Given the description of an element on the screen output the (x, y) to click on. 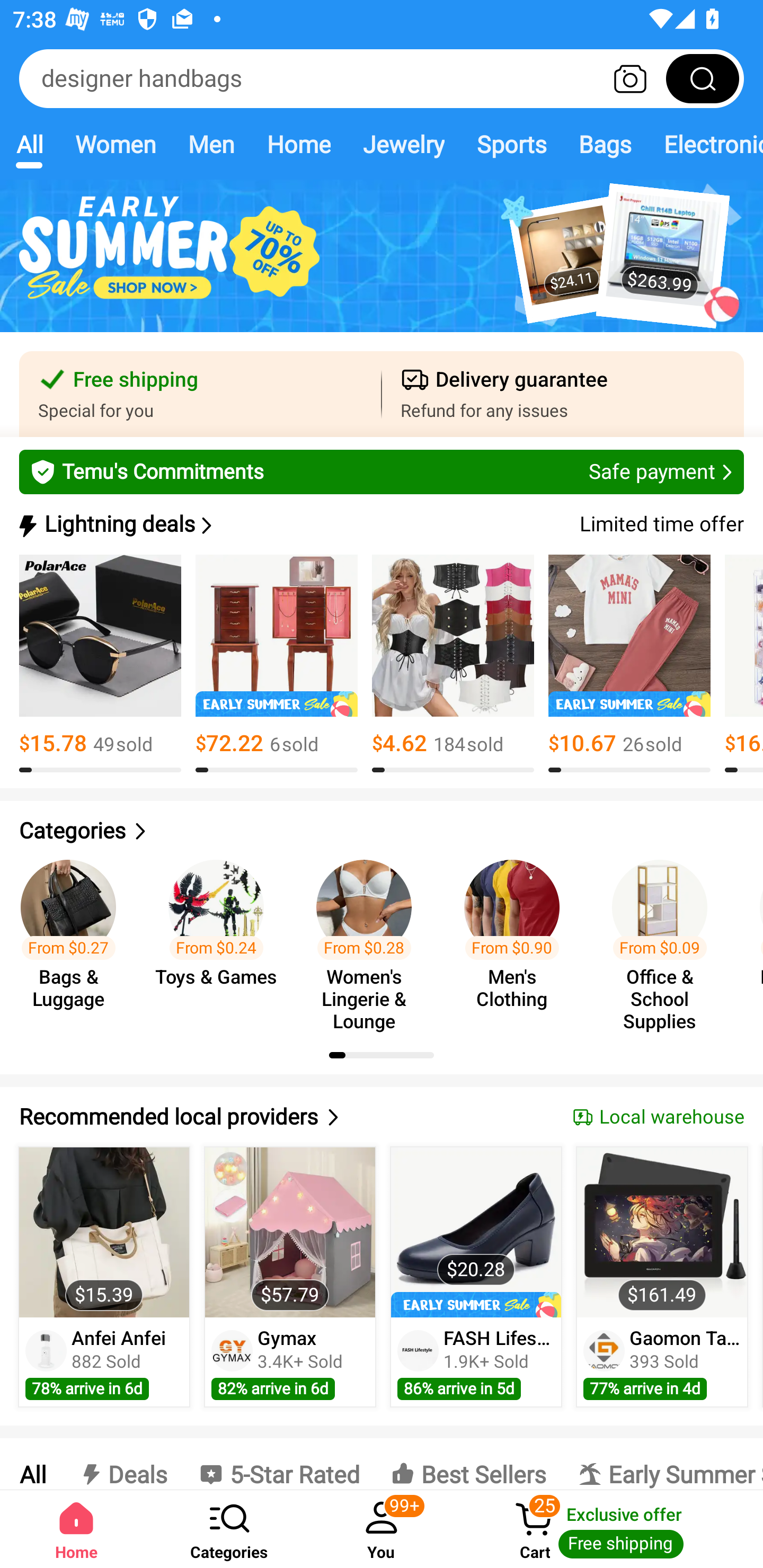
designer handbags (381, 78)
All (29, 144)
Women (115, 144)
Men (211, 144)
Home (298, 144)
Jewelry (403, 144)
Sports (511, 144)
Bags (605, 144)
Electronics (705, 144)
$24.11 $263.99 (381, 265)
Free shipping Special for you (200, 394)
Delivery guarantee Refund for any issues (562, 394)
Temu's Commitments (381, 471)
Lightning deals Lightning deals Limited time offer (379, 524)
$15.78 49￼sold 8.0 (100, 664)
$72.22 6￼sold 8.0 (276, 664)
$4.62 184￼sold 8.0 (453, 664)
$10.67 26￼sold 8.0 (629, 664)
Categories (381, 830)
From $0.27 Bags & Luggage (74, 936)
From $0.24 Toys & Games (222, 936)
From $0.28 Women's Lingerie & Lounge (369, 936)
From $0.90 Men's Clothing (517, 936)
From $0.09 Office & School Supplies (665, 936)
$15.39 Anfei Anfei 882 Sold 78% arrive in 6d (103, 1276)
$57.79 Gymax 3.4K+ Sold 82% arrive in 6d (289, 1276)
$20.28 FASH Lifestyle 1.9K+ Sold 86% arrive in 5d (475, 1276)
$161.49 Gaomon Tablet 393 Sold 77% arrive in 4d (661, 1276)
$15.39 (104, 1232)
$57.79 (290, 1232)
$20.28 (475, 1232)
$161.49 (661, 1232)
All (32, 1463)
Deals Deals Deals (122, 1463)
5-Star Rated 5-Star Rated 5-Star Rated (279, 1463)
Best Sellers Best Sellers Best Sellers (468, 1463)
Home (76, 1528)
Categories (228, 1528)
You ‎99+‎ You (381, 1528)
Cart 25 Cart Exclusive offer (610, 1528)
